Given the description of an element on the screen output the (x, y) to click on. 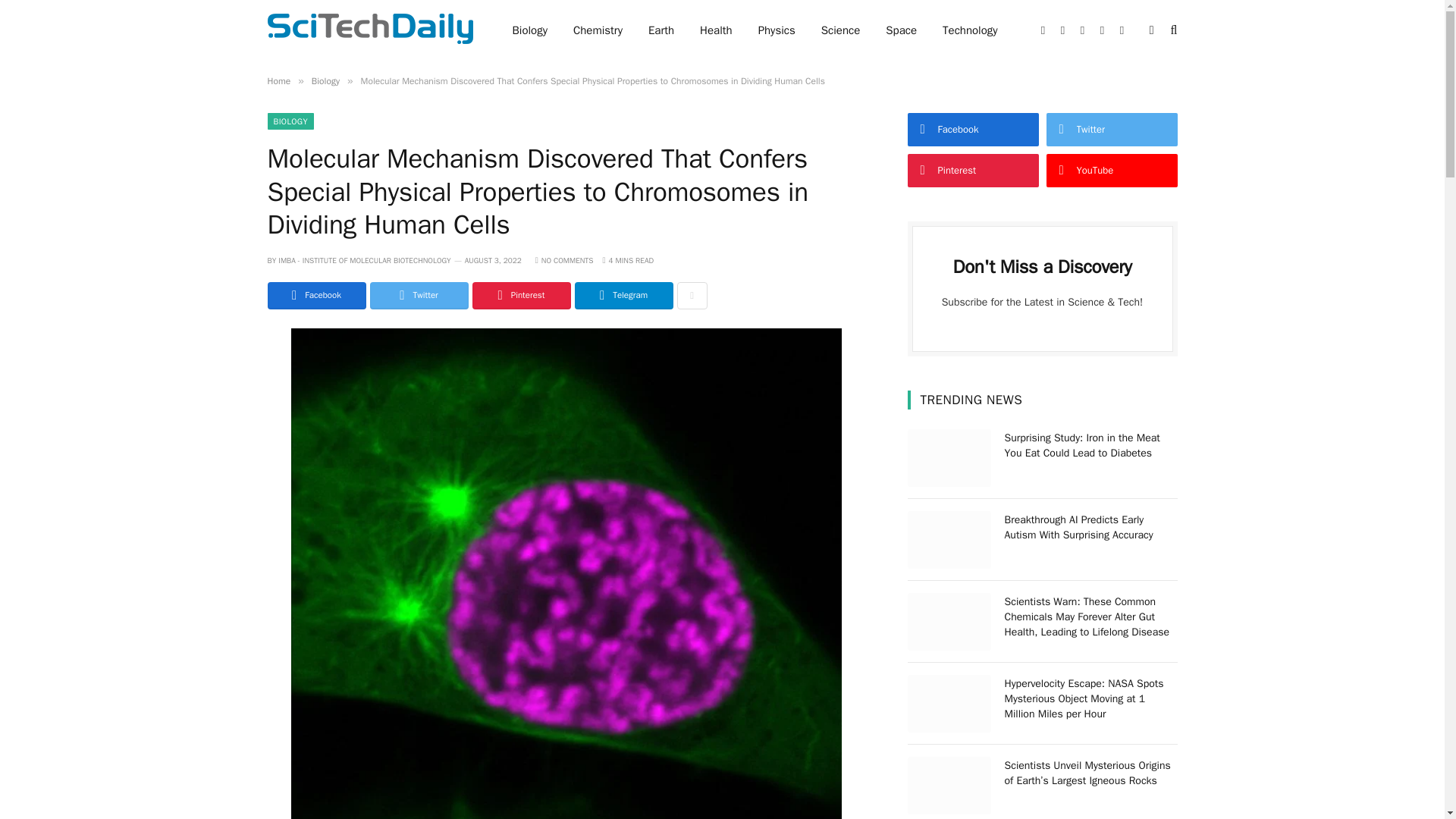
Physics (776, 30)
Space (901, 30)
Twitter (418, 295)
Home (277, 80)
BIOLOGY (289, 121)
Share on Telegram (623, 295)
Technology (970, 30)
Facebook (315, 295)
Biology (529, 30)
Biology (325, 80)
